Given the description of an element on the screen output the (x, y) to click on. 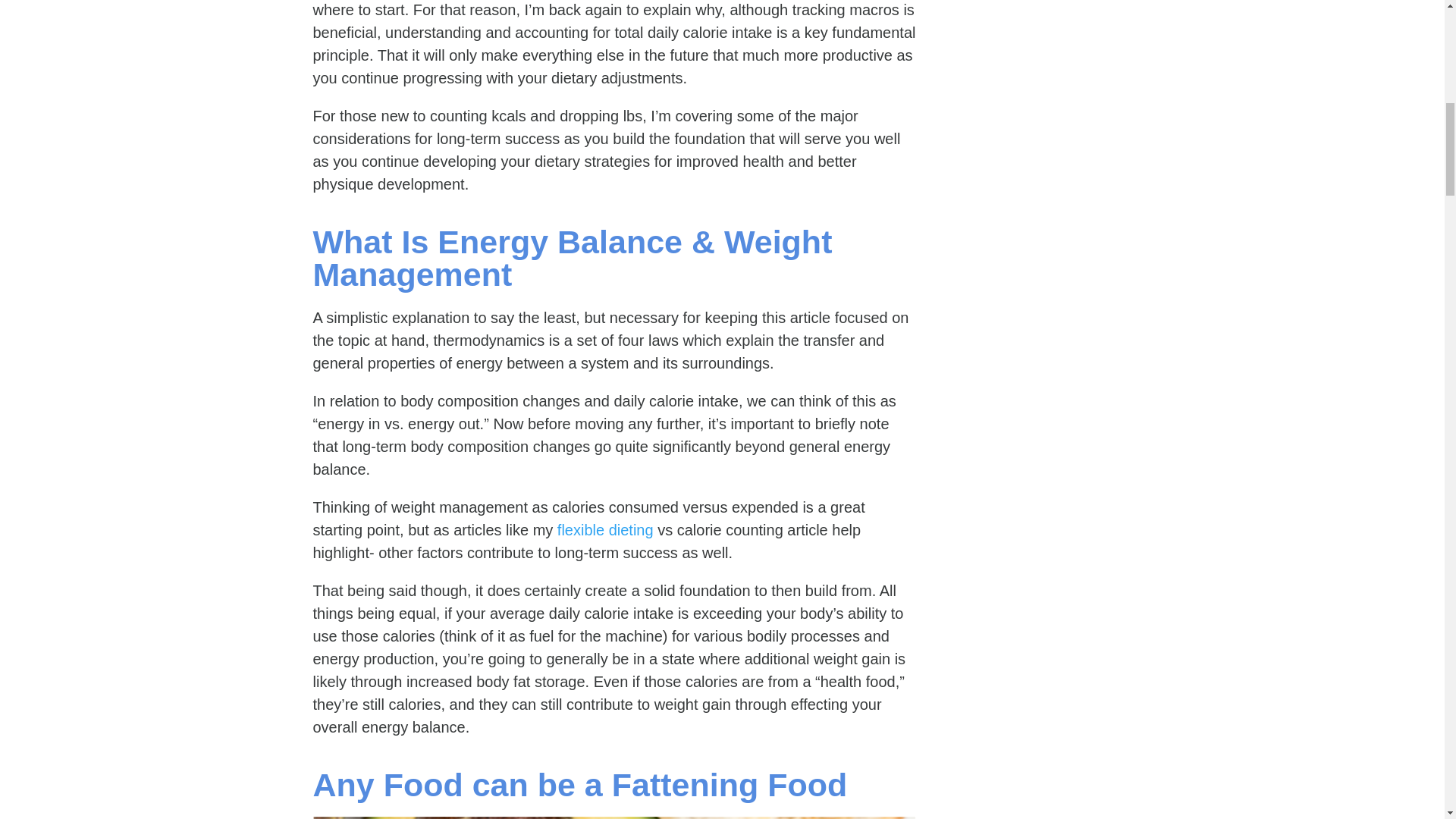
Flexible Dieting (605, 529)
flexible dieting (605, 529)
